Given the description of an element on the screen output the (x, y) to click on. 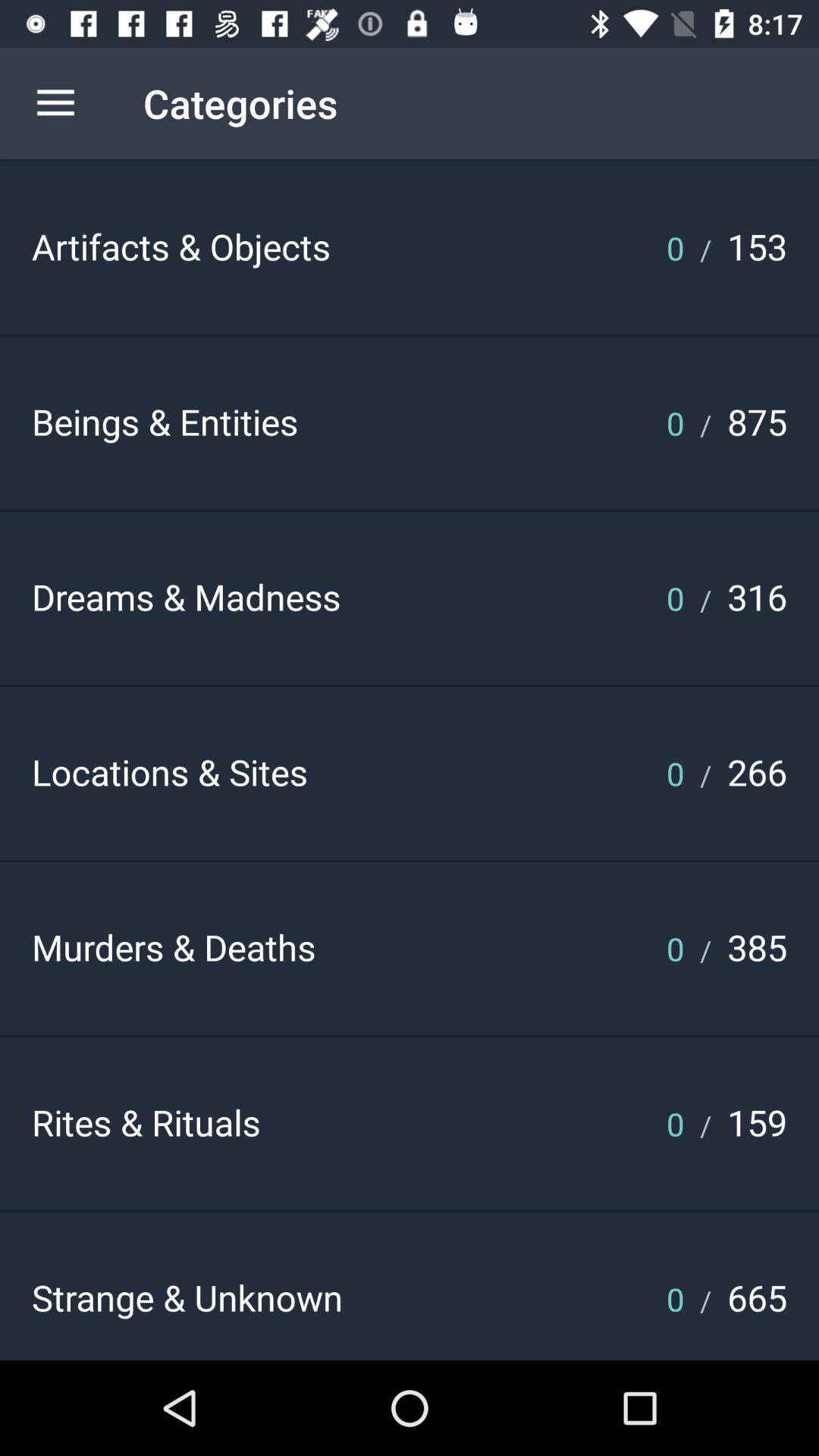
turn on the icon next to the categories icon (55, 103)
